Given the description of an element on the screen output the (x, y) to click on. 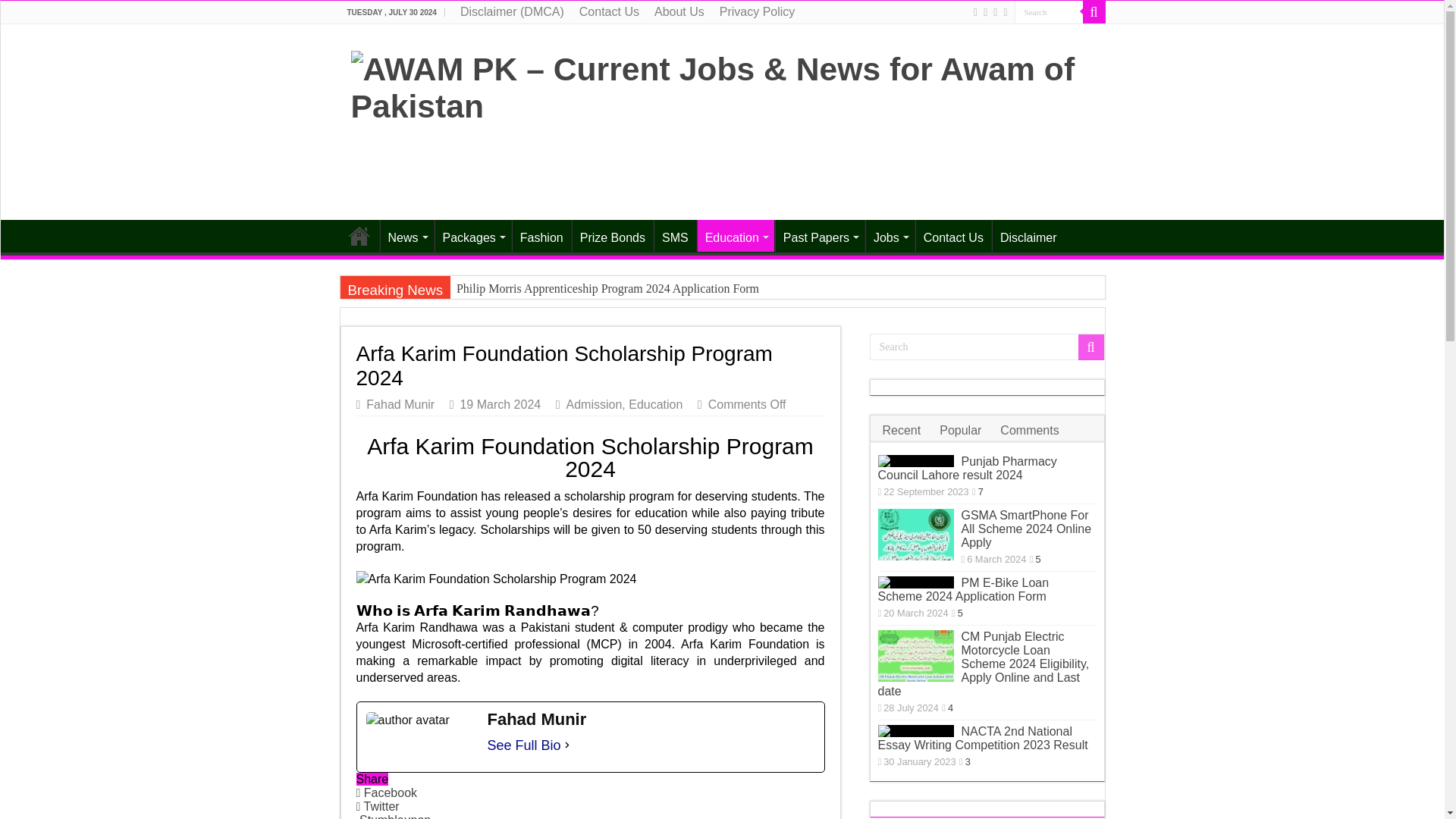
Fashion (541, 235)
Contact Us (609, 11)
Search (1048, 11)
Search (1048, 11)
Search (986, 346)
Packages (472, 235)
Prize Bonds (612, 235)
News (405, 235)
Search (1048, 11)
SMS (674, 235)
Search (1094, 11)
Education (735, 235)
Privacy Policy (757, 11)
Home (358, 235)
Philip Morris Apprenticeship Program 2024 Application Form (720, 289)
